Given the description of an element on the screen output the (x, y) to click on. 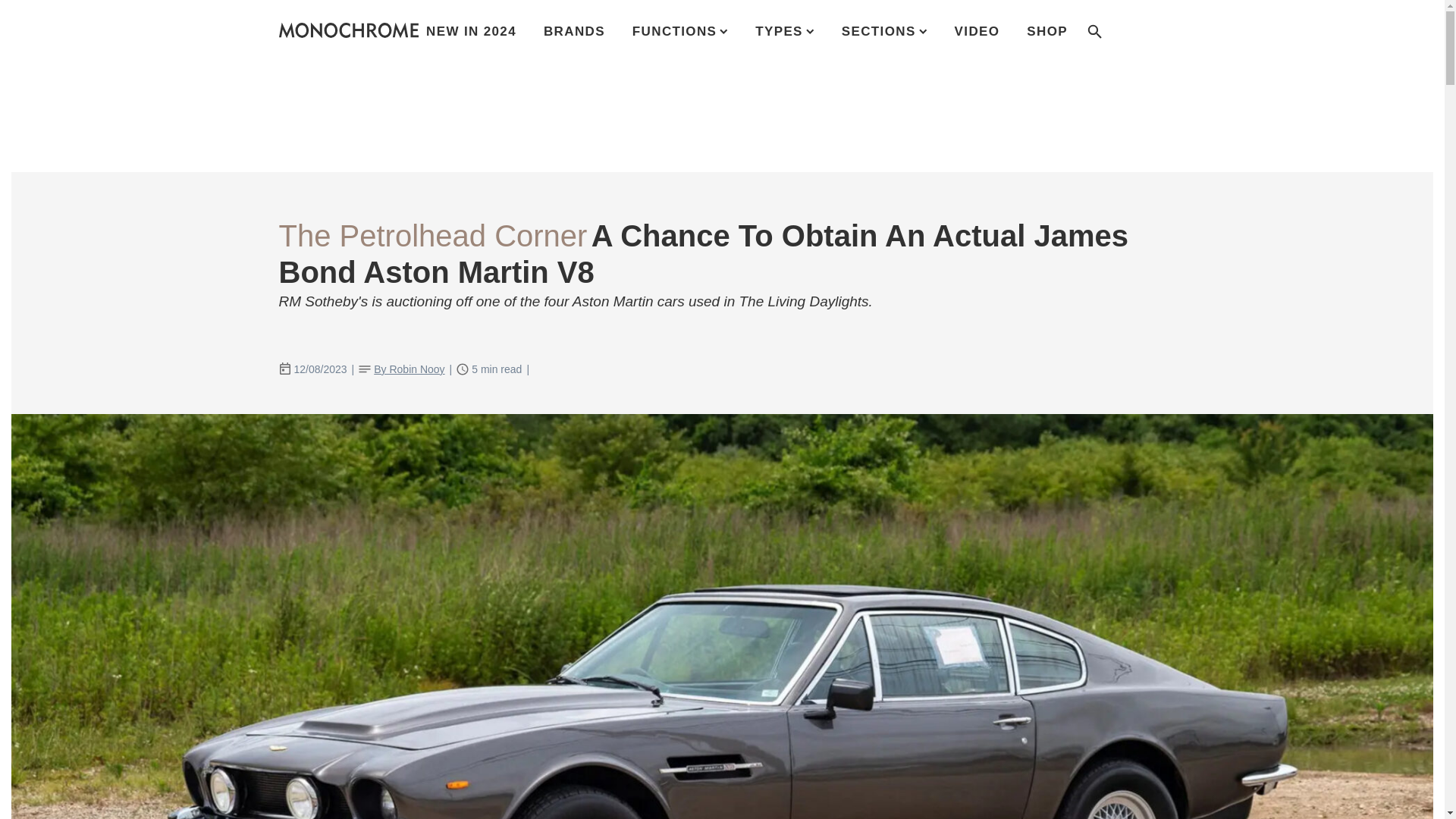
Monochrome Watches (349, 29)
Robin Nooy (409, 369)
